Given the description of an element on the screen output the (x, y) to click on. 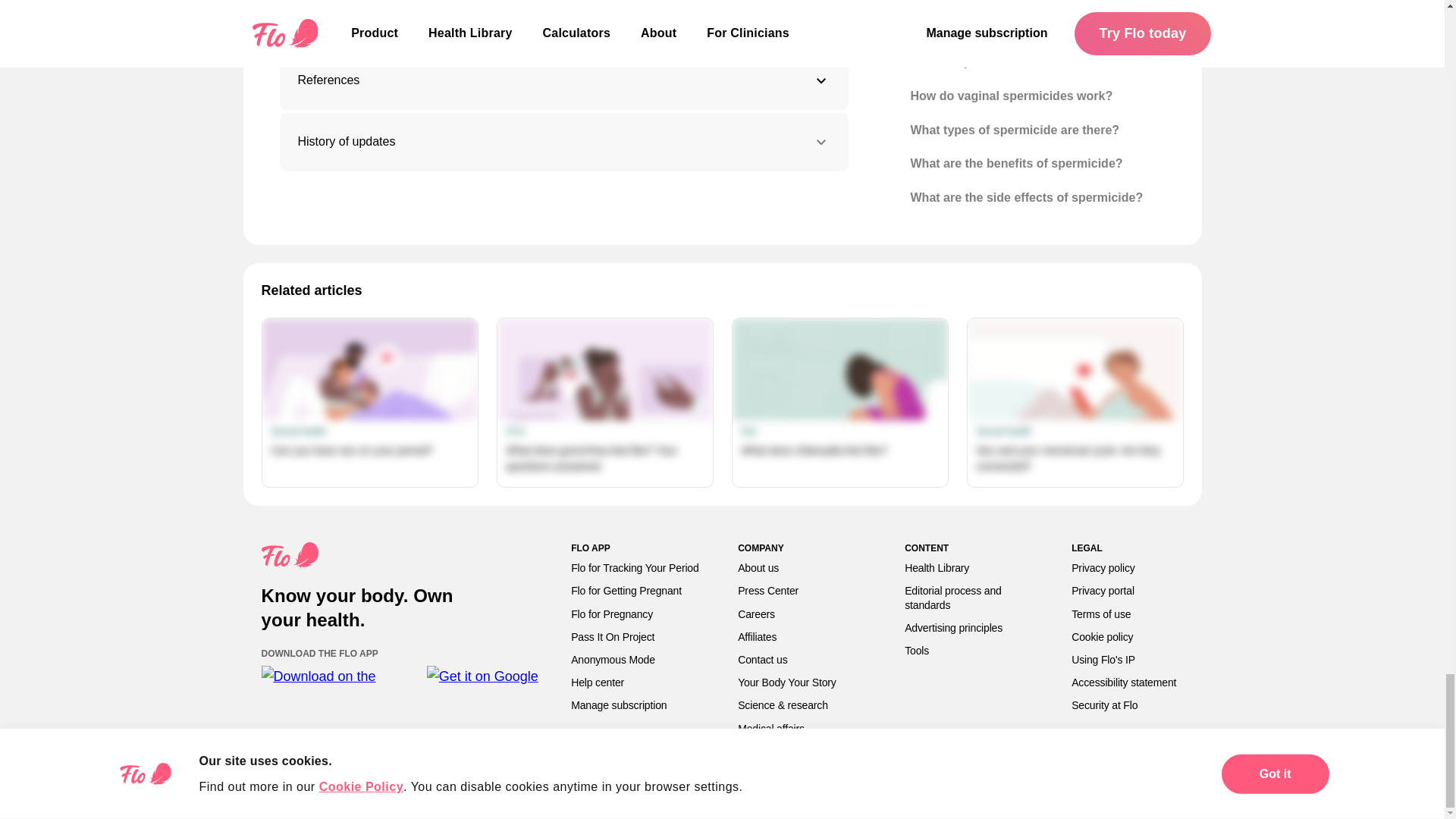
Download on the Apple Store now (336, 678)
Get it on Google Play now (483, 678)
